Given the description of an element on the screen output the (x, y) to click on. 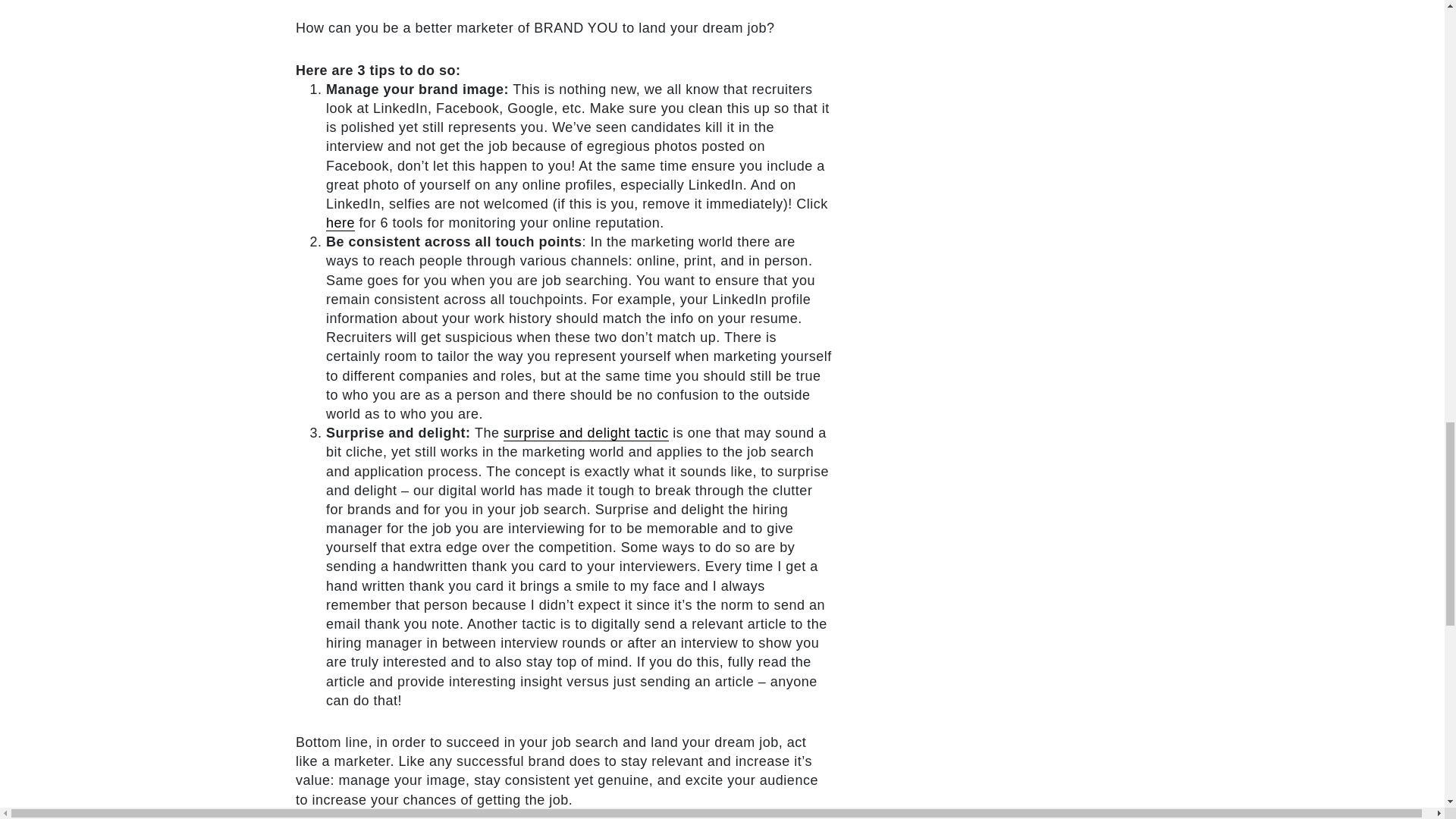
here (340, 222)
surprise and delight tactic (585, 433)
